Given the description of an element on the screen output the (x, y) to click on. 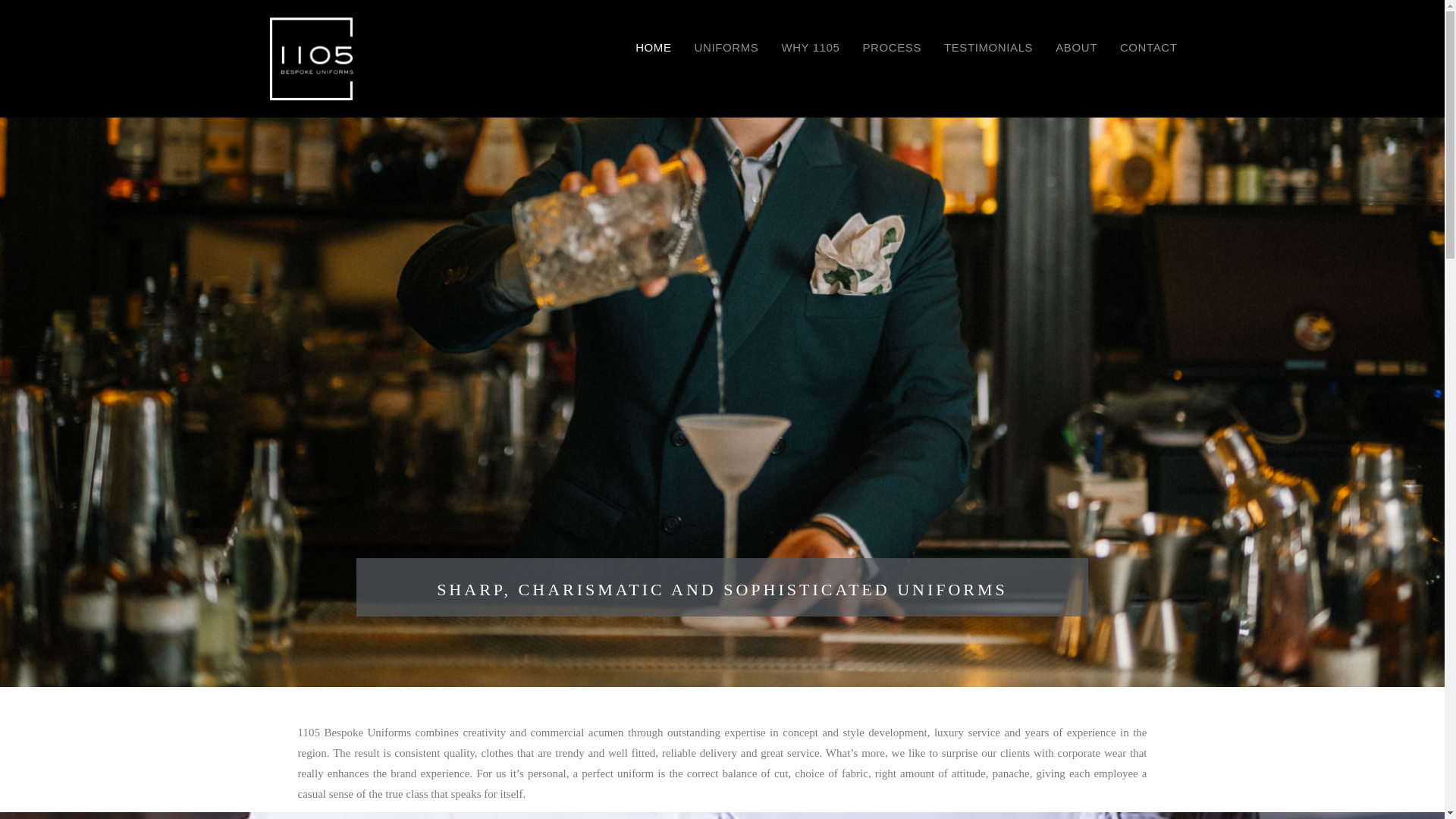
CONTACT Element type: text (1148, 47)
HOME Element type: text (653, 47)
WHY 1105 Element type: text (809, 47)
UNIFORMS Element type: text (726, 47)
TESTIMONIALS Element type: text (988, 47)
ABOUT Element type: text (1076, 47)
PROCESS Element type: text (891, 47)
